Given the description of an element on the screen output the (x, y) to click on. 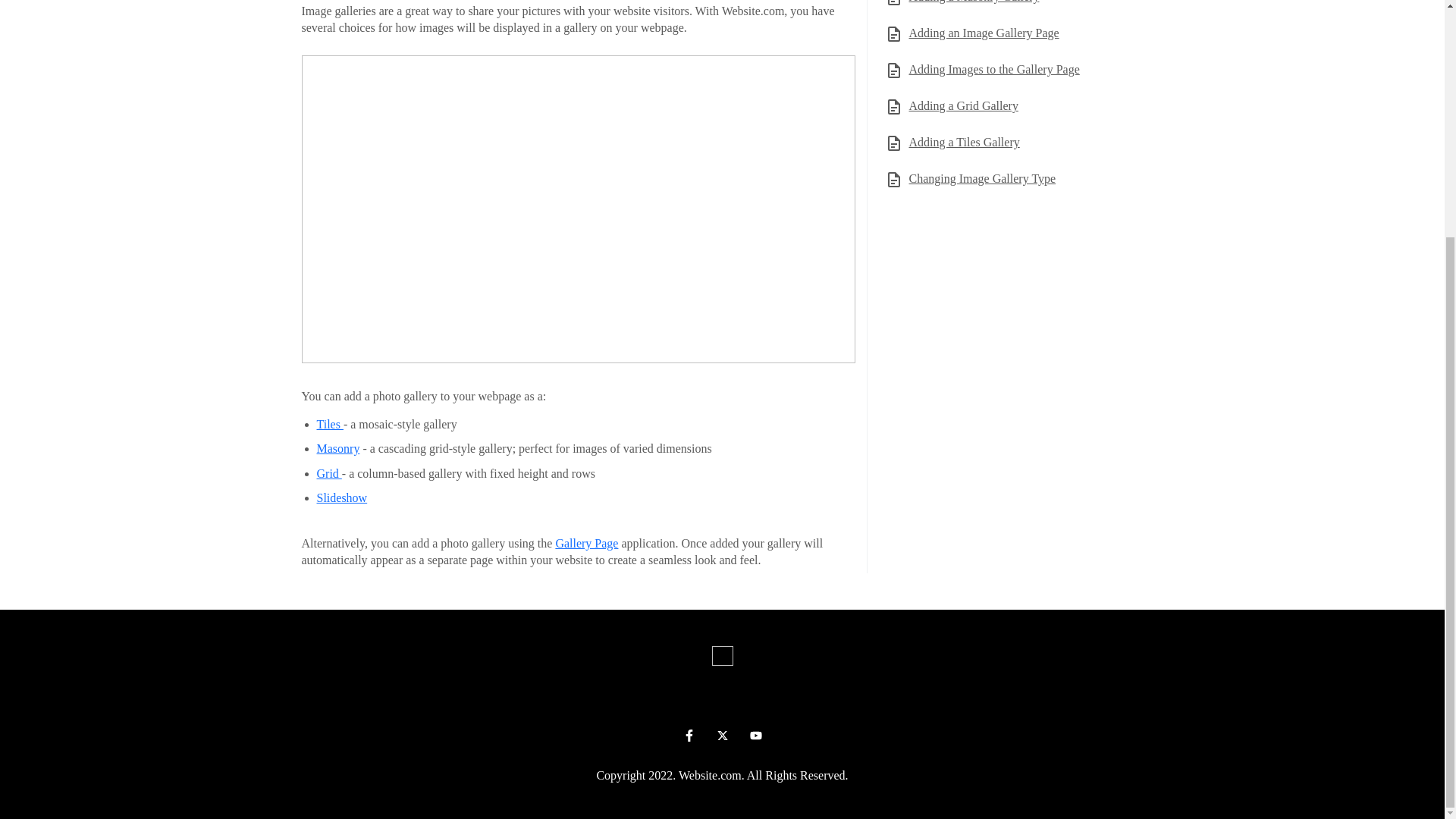
Grid (329, 472)
Tiles (330, 423)
Masonry (338, 448)
